Given the description of an element on the screen output the (x, y) to click on. 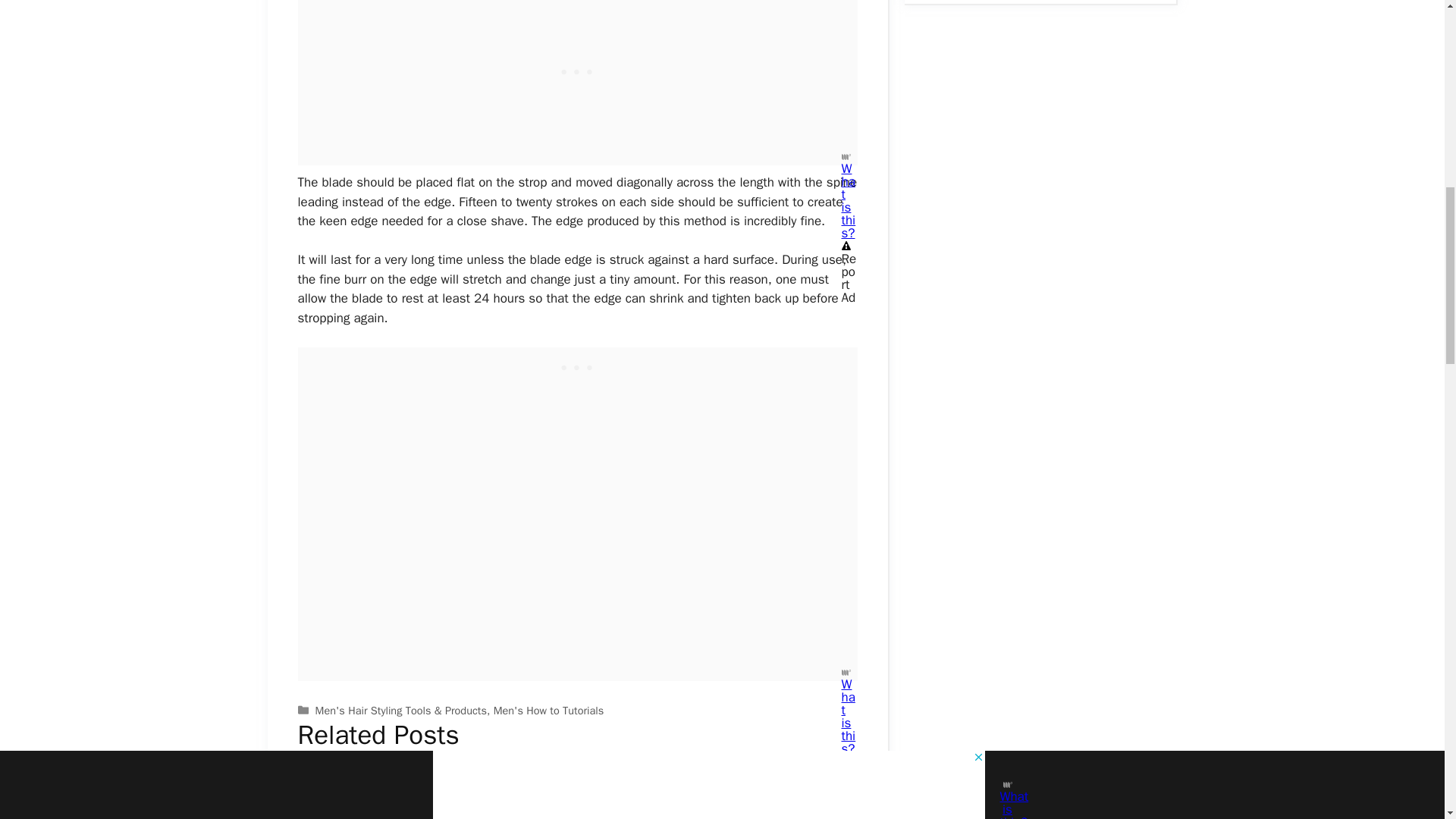
3rd party ad content (577, 365)
Men's How to Tutorials (548, 710)
Scroll back to top (1406, 598)
3rd party ad content (577, 10)
